Given the description of an element on the screen output the (x, y) to click on. 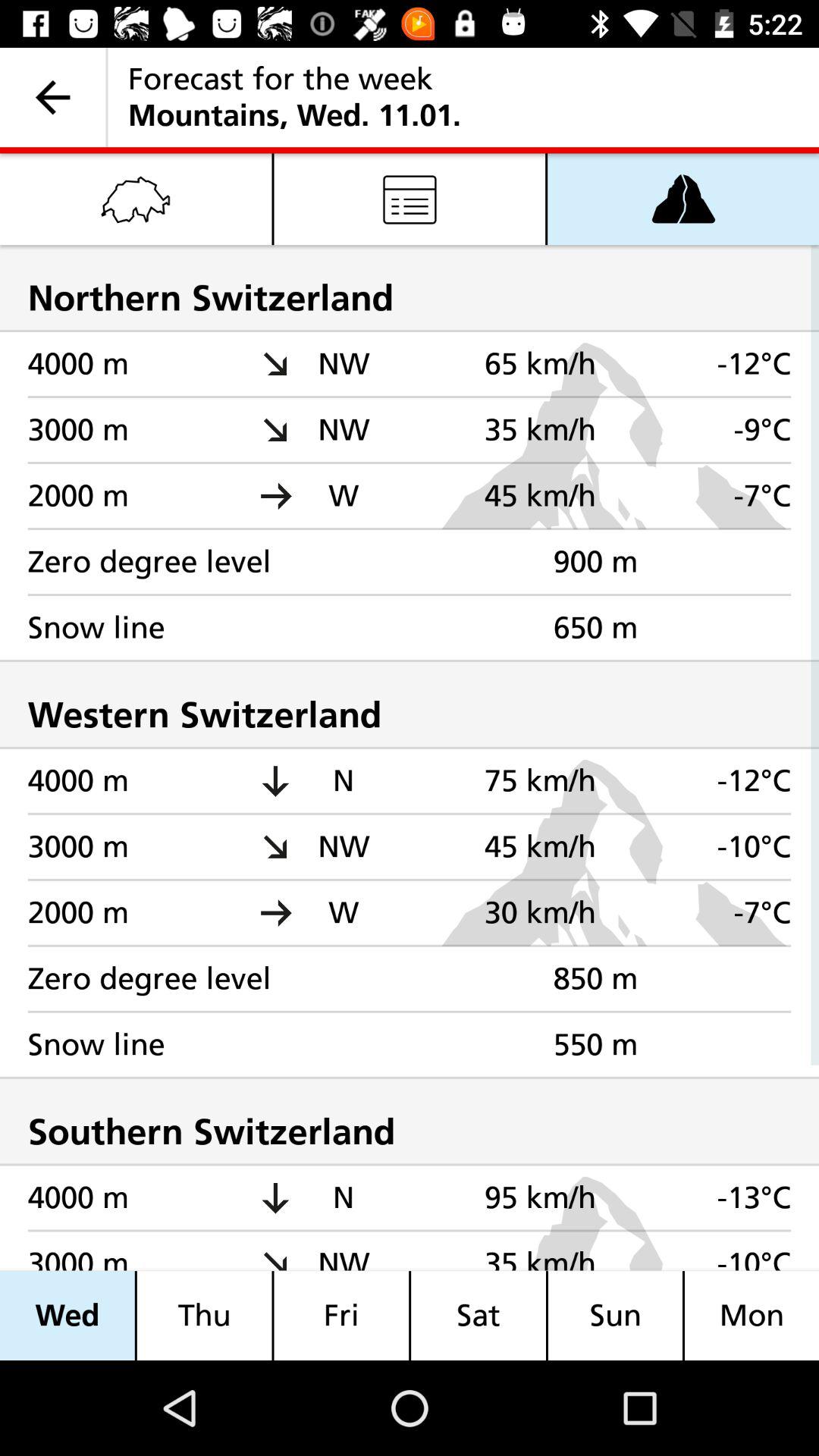
turn on the item next to the thu (341, 1315)
